Given the description of an element on the screen output the (x, y) to click on. 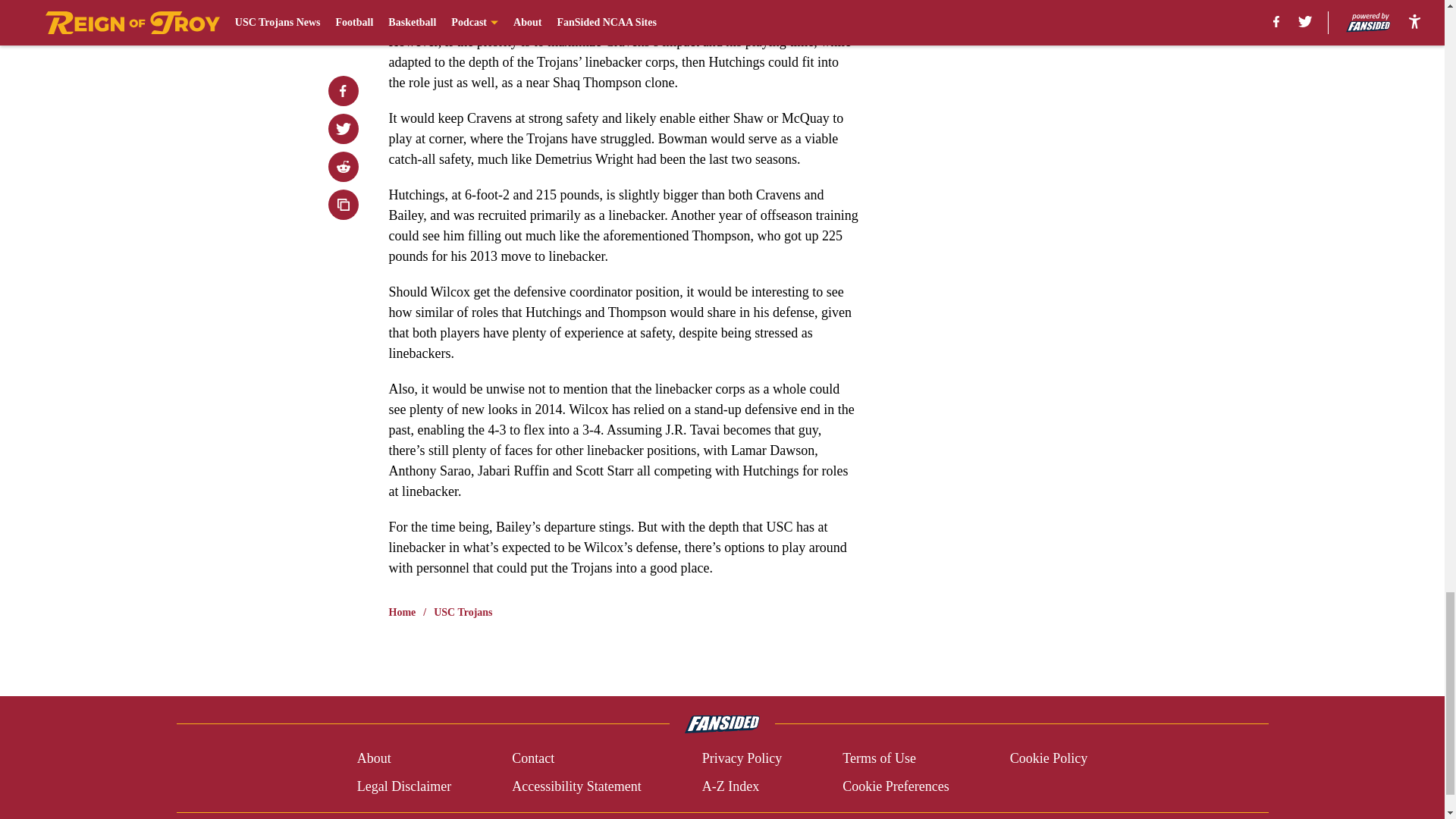
Home (401, 612)
Legal Disclaimer (403, 786)
USC Trojans (462, 612)
Terms of Use (879, 758)
Cookie Preferences (896, 786)
Contact (533, 758)
Accessibility Statement (576, 786)
A-Z Index (729, 786)
Cookie Policy (1048, 758)
About (373, 758)
